Given the description of an element on the screen output the (x, y) to click on. 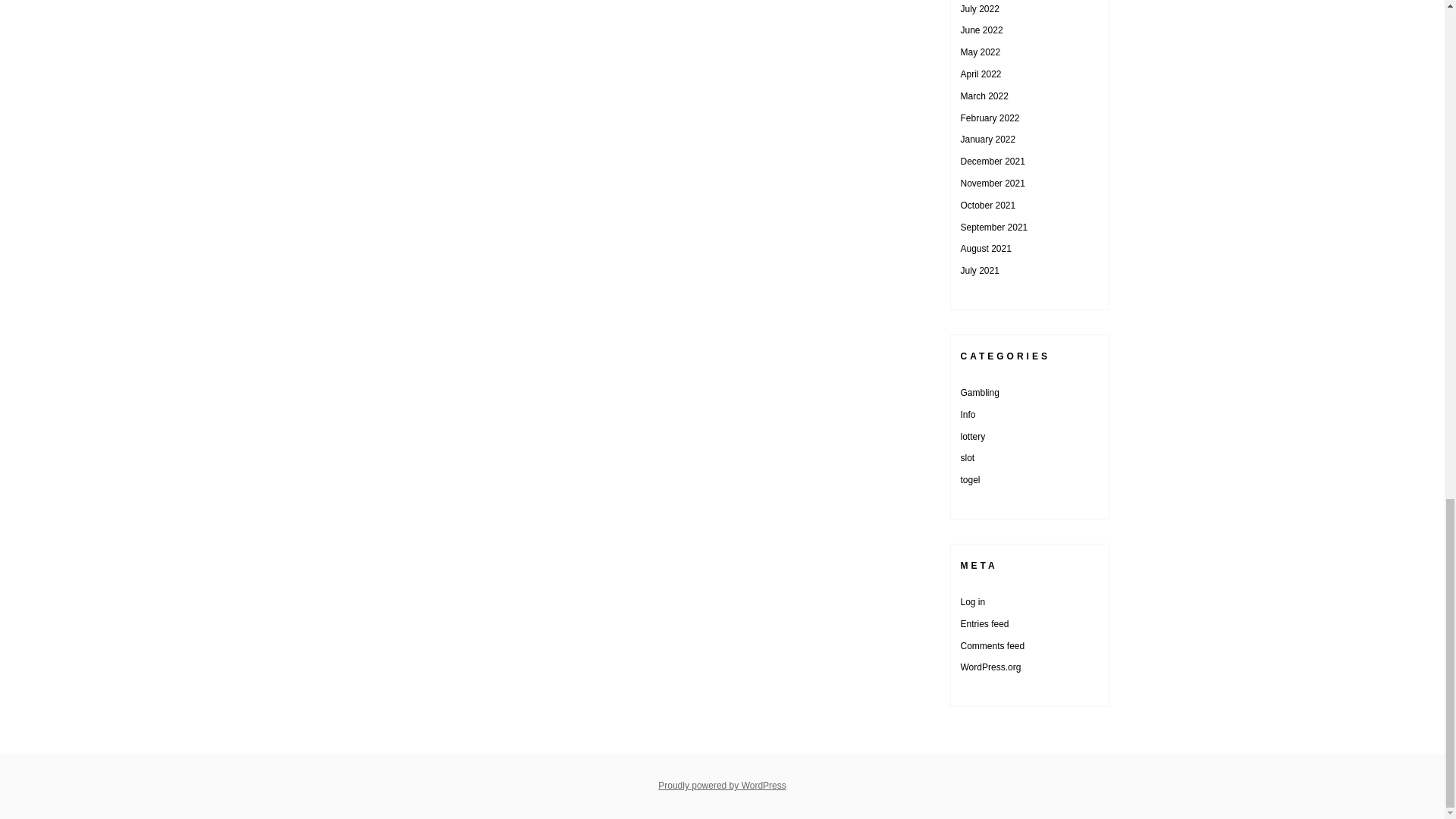
July 2022 (978, 9)
June 2022 (981, 30)
